Given the description of an element on the screen output the (x, y) to click on. 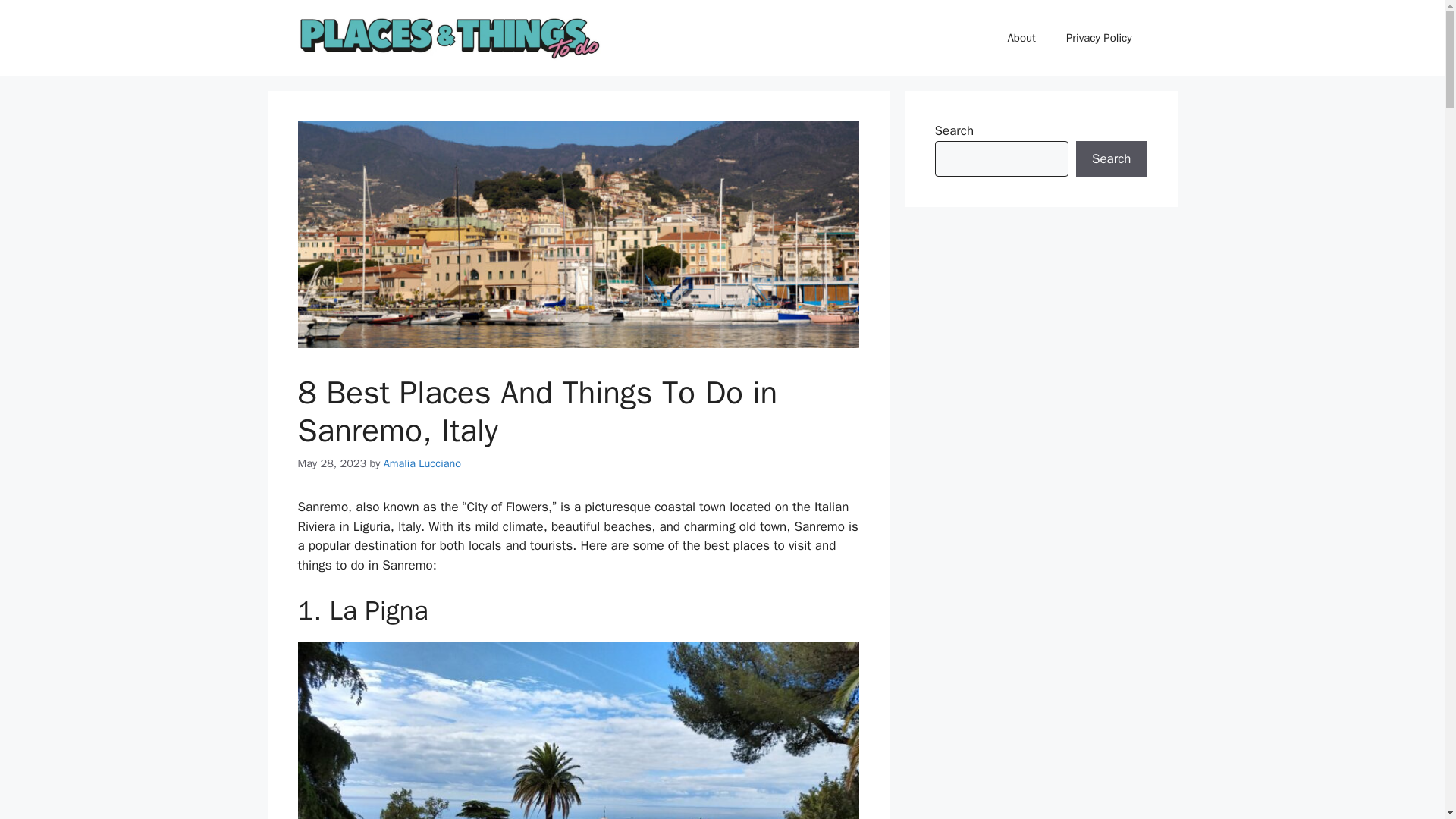
View all posts by Amalia Lucciano (422, 463)
Search (1111, 158)
About (1020, 37)
Privacy Policy (1099, 37)
Amalia Lucciano (422, 463)
